Given the description of an element on the screen output the (x, y) to click on. 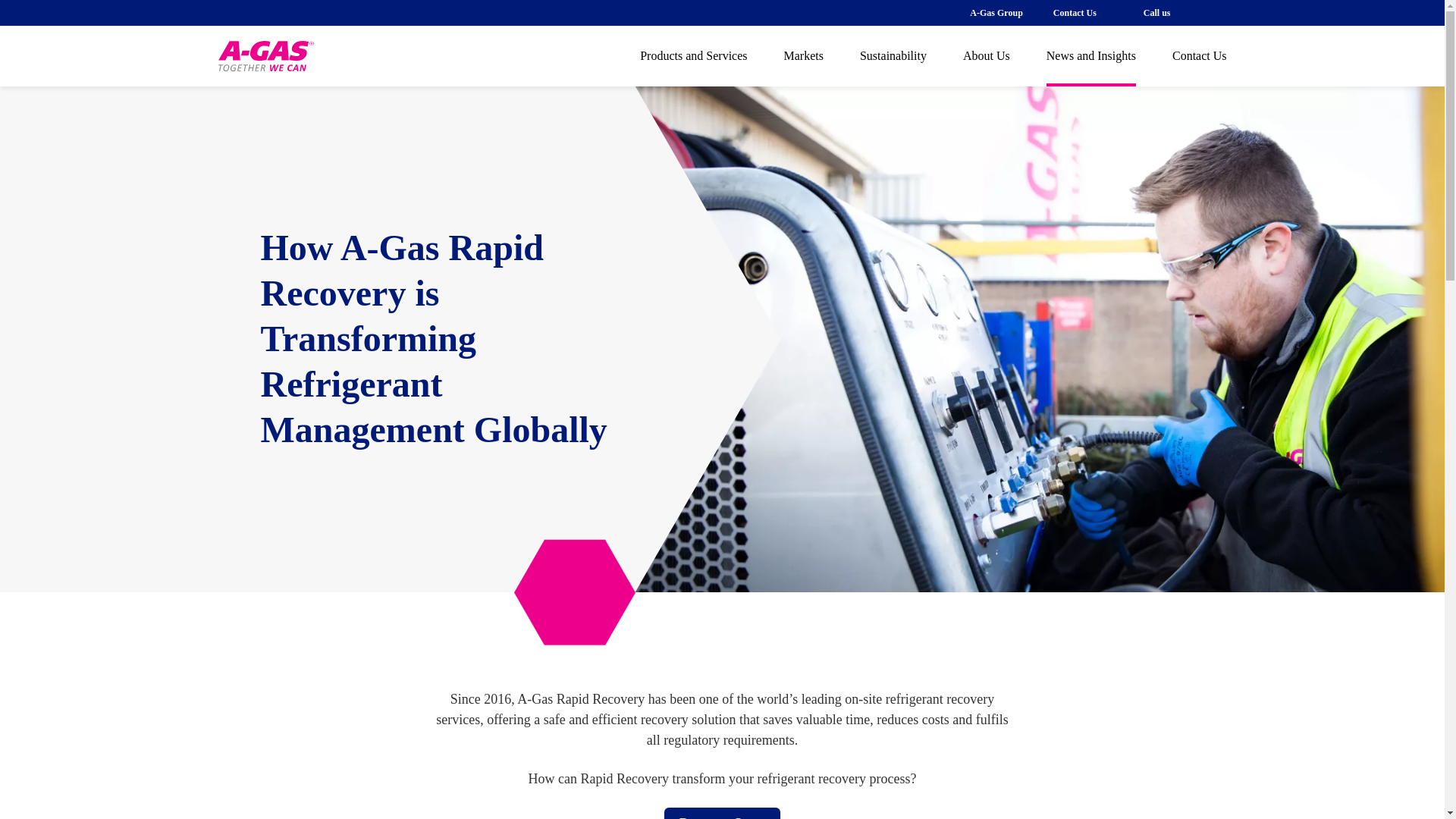
Contact Us (1074, 12)
Call us (1155, 12)
Open Search Modal (1220, 12)
Sustainability (893, 55)
About Us (986, 55)
Markets (804, 55)
Products and Services (693, 55)
A-Gas Group (995, 12)
